Given the description of an element on the screen output the (x, y) to click on. 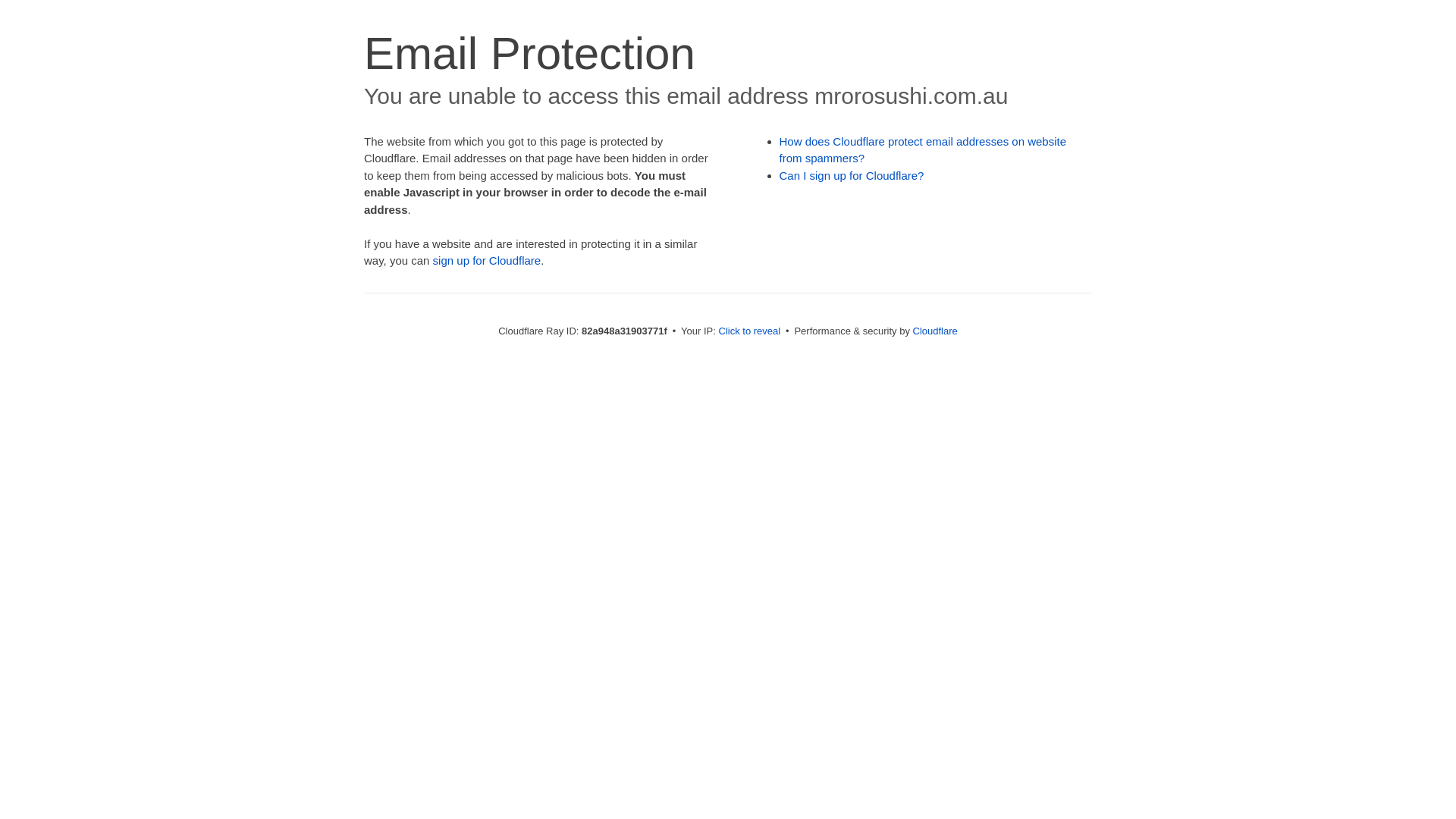
sign up for Cloudflare Element type: text (487, 260)
Can I sign up for Cloudflare? Element type: text (851, 175)
Cloudflare Element type: text (935, 330)
Click to reveal Element type: text (749, 330)
